Given the description of an element on the screen output the (x, y) to click on. 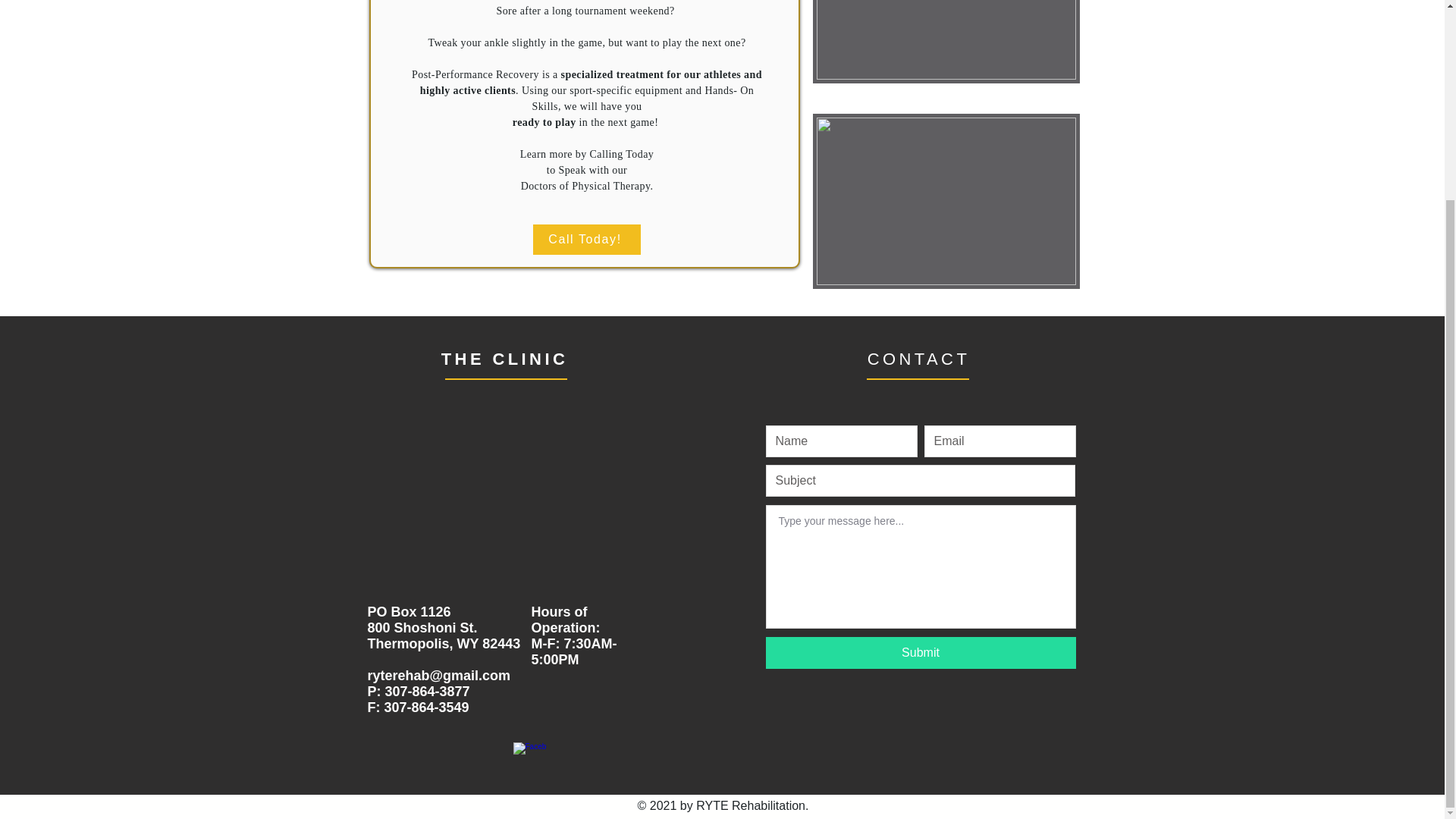
Call Today! (586, 239)
Submit (920, 653)
Basketball Match (946, 41)
Athlete Concentrating (946, 201)
